Given the description of an element on the screen output the (x, y) to click on. 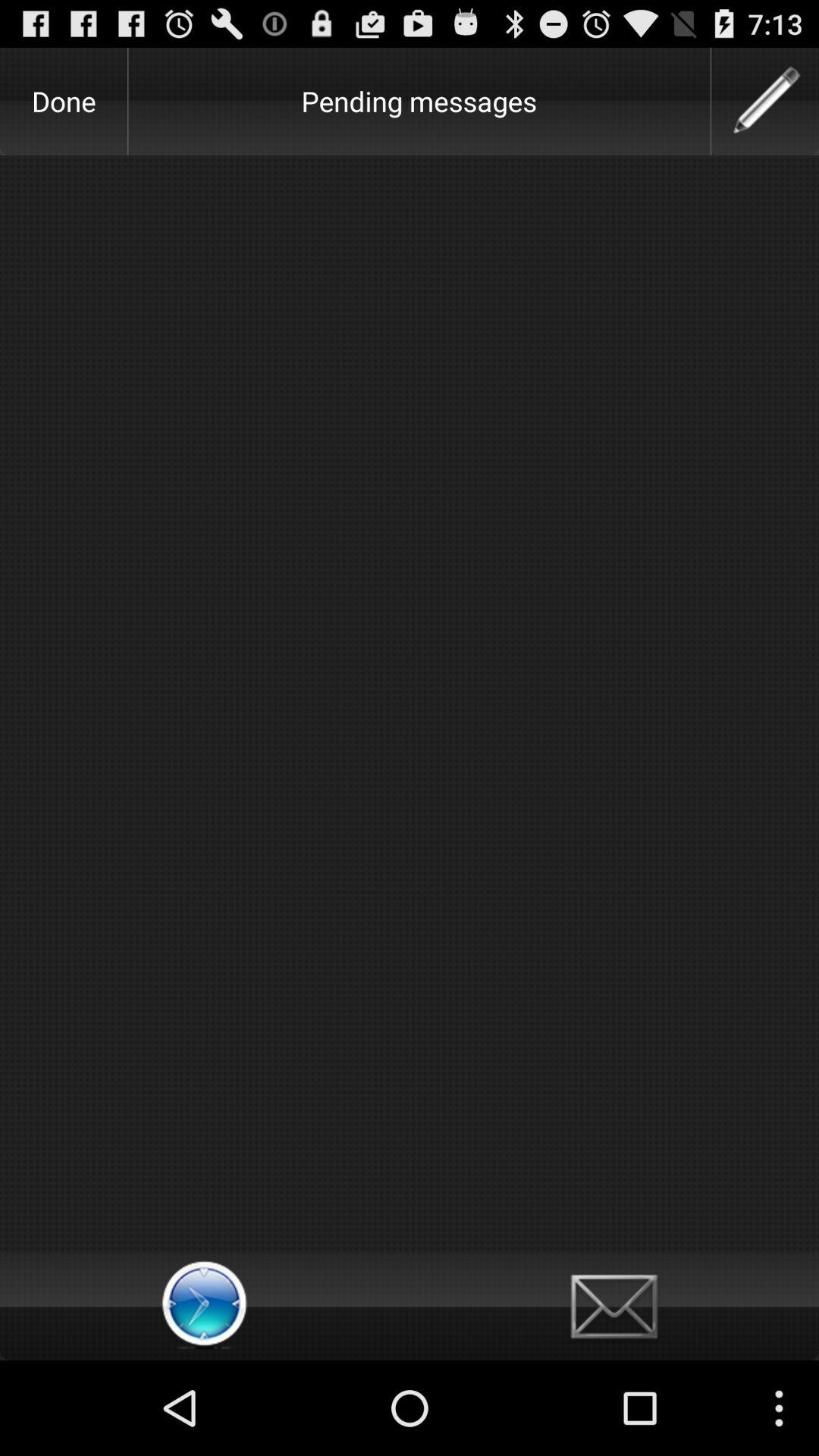
scroll to done icon (63, 101)
